Given the description of an element on the screen output the (x, y) to click on. 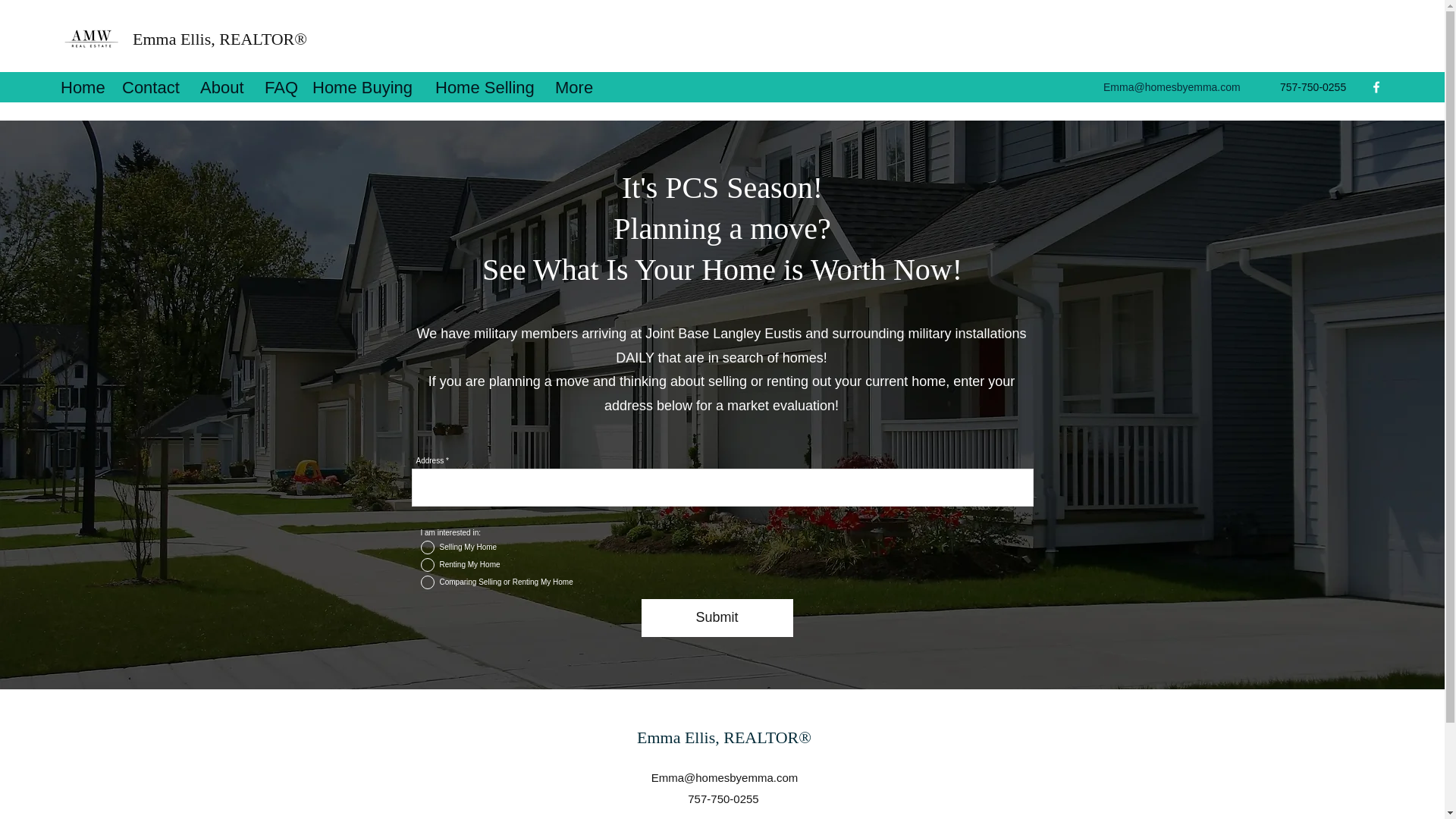
Home Selling (487, 87)
About (224, 87)
Home Buying (366, 87)
FAQ (280, 87)
Home (83, 87)
Submit (717, 617)
Contact (153, 87)
